Given the description of an element on the screen output the (x, y) to click on. 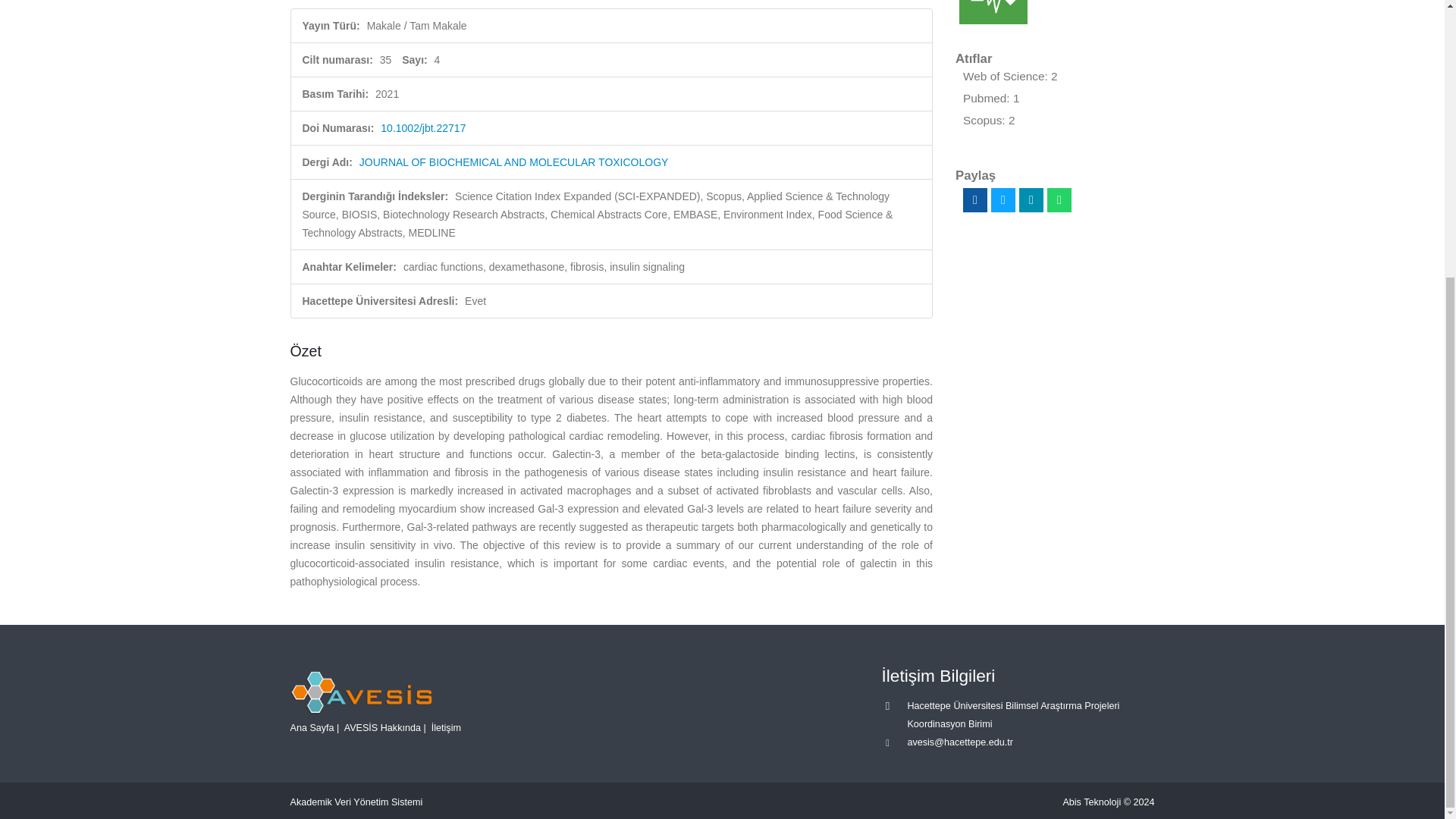
Abis Teknoloji (1091, 801)
Ana Sayfa (311, 727)
JOURNAL OF BIOCHEMICAL AND MOLECULAR TOXICOLOGY (513, 162)
